Given the description of an element on the screen output the (x, y) to click on. 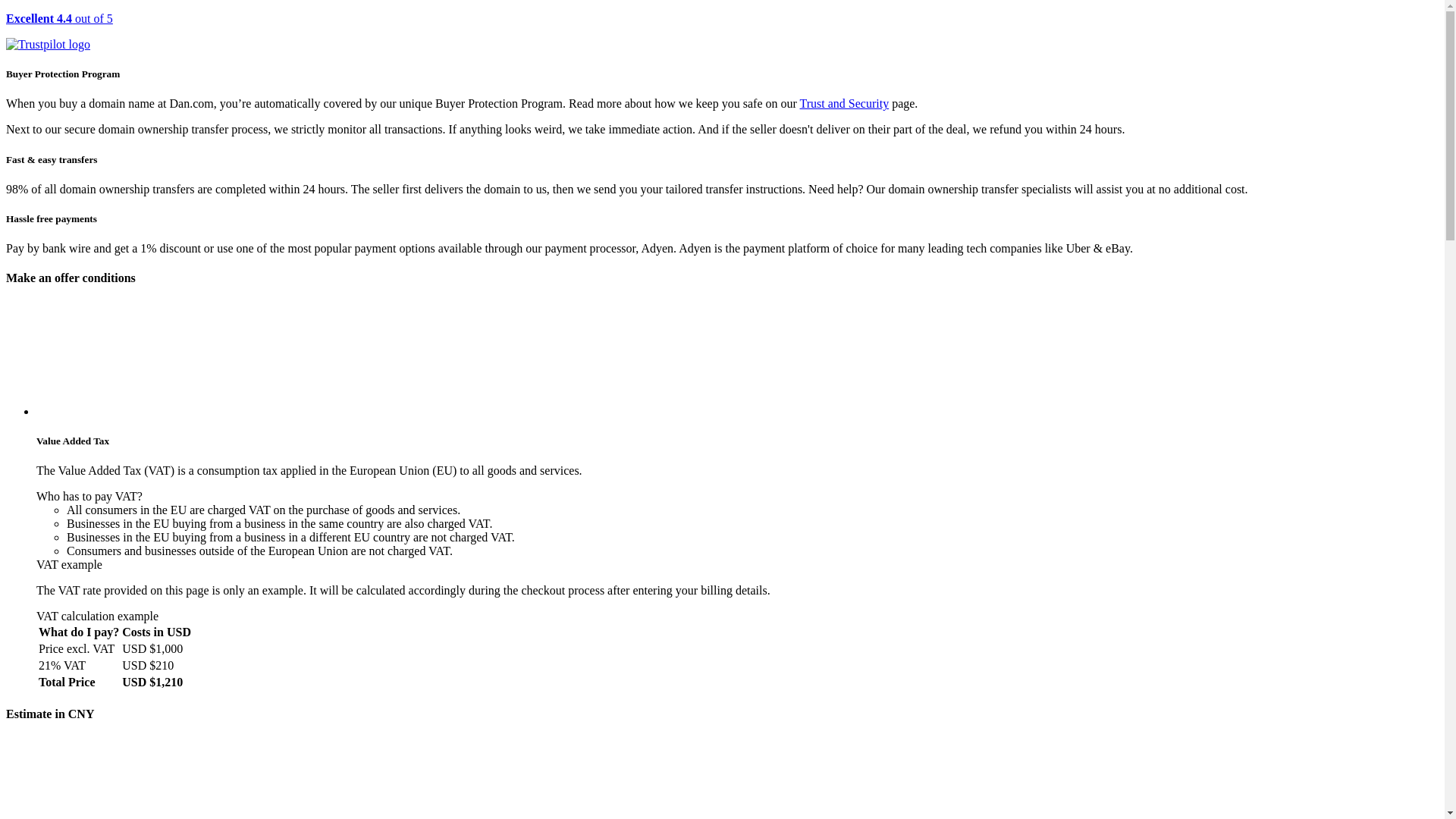
Excellent 4.4 out of 5 Element type: text (722, 31)
Trust and Security Element type: text (844, 103)
